Given the description of an element on the screen output the (x, y) to click on. 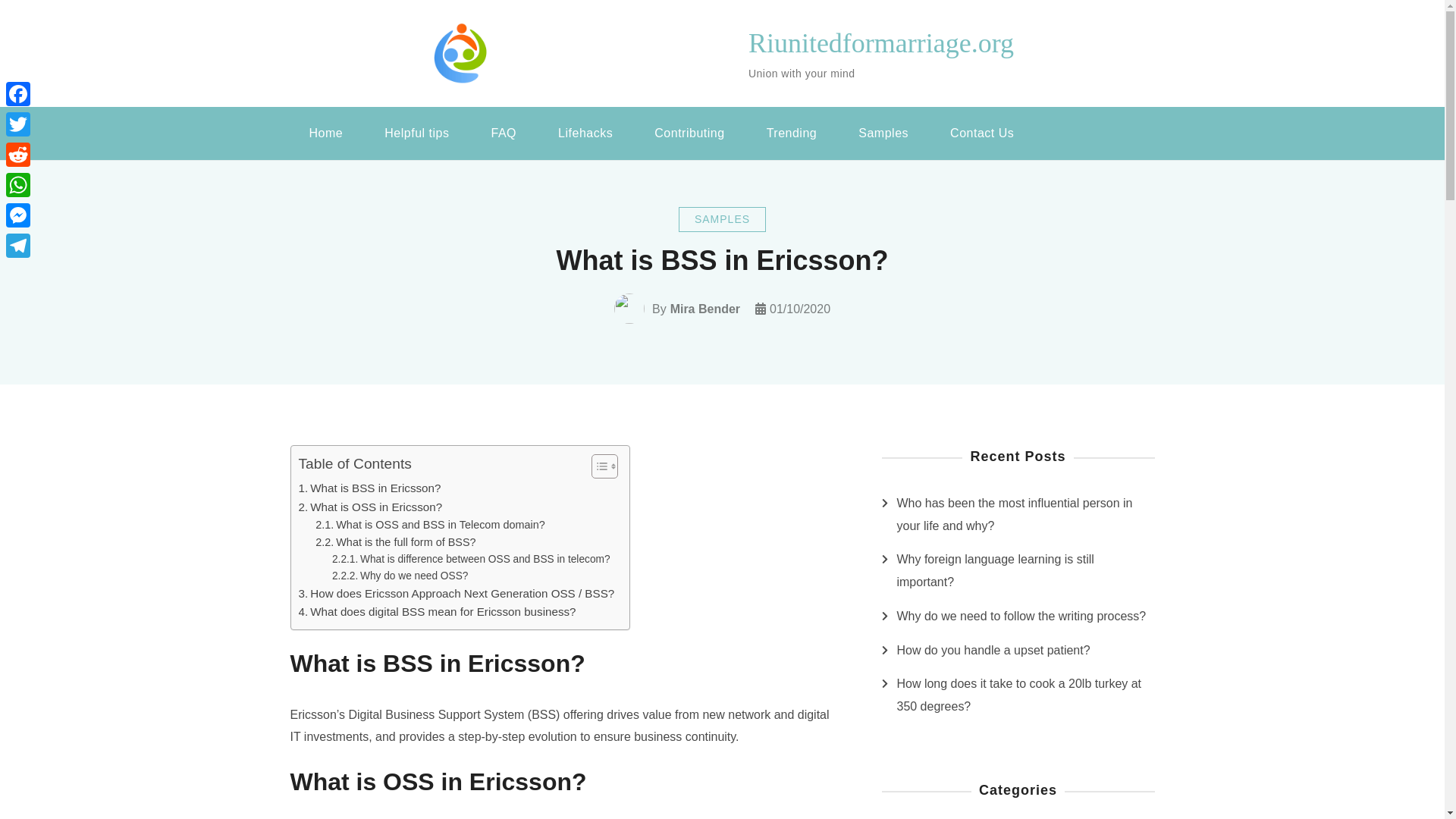
Contributing (688, 133)
Contact Us (981, 133)
What is the full form of BSS? (395, 542)
What does digital BSS mean for Ericsson business? (437, 611)
What is BSS in Ericsson? (369, 488)
FAQ (503, 133)
What is OSS in Ericsson? (370, 506)
Samples (883, 133)
Why do we need to follow the writing process? (1020, 616)
Messenger (17, 214)
What is OSS and BSS in Telecom domain? (429, 524)
How do you handle a upset patient? (992, 650)
Trending (791, 133)
WhatsApp (17, 184)
